Given the description of an element on the screen output the (x, y) to click on. 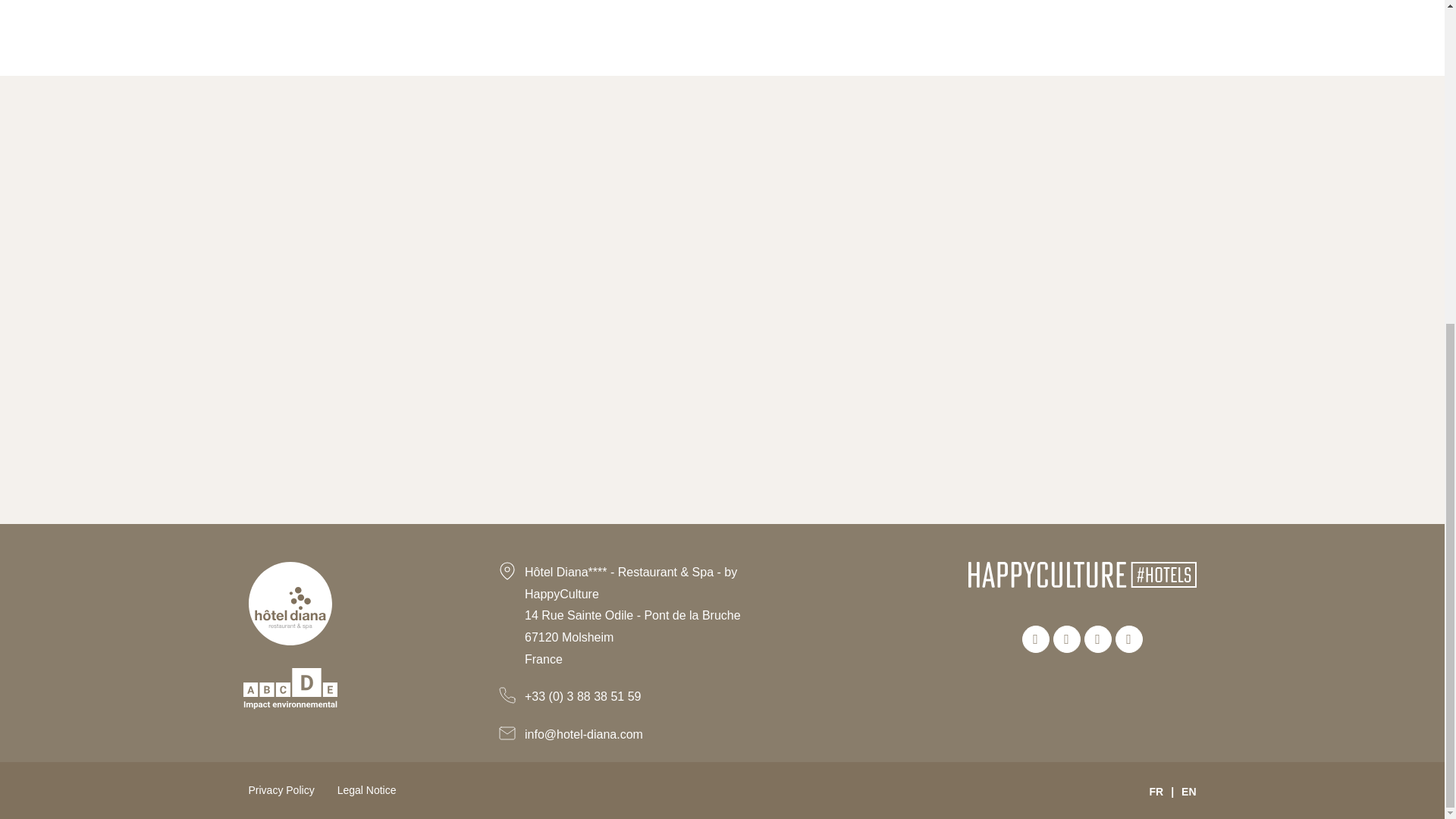
Legal Notice (366, 789)
EN (1187, 791)
Privacy Policy (281, 789)
launcher (1403, 260)
facebook (1035, 637)
instagram (1066, 637)
WTTJ (1098, 637)
Youtube (1128, 637)
FR (1155, 791)
